Given the description of an element on the screen output the (x, y) to click on. 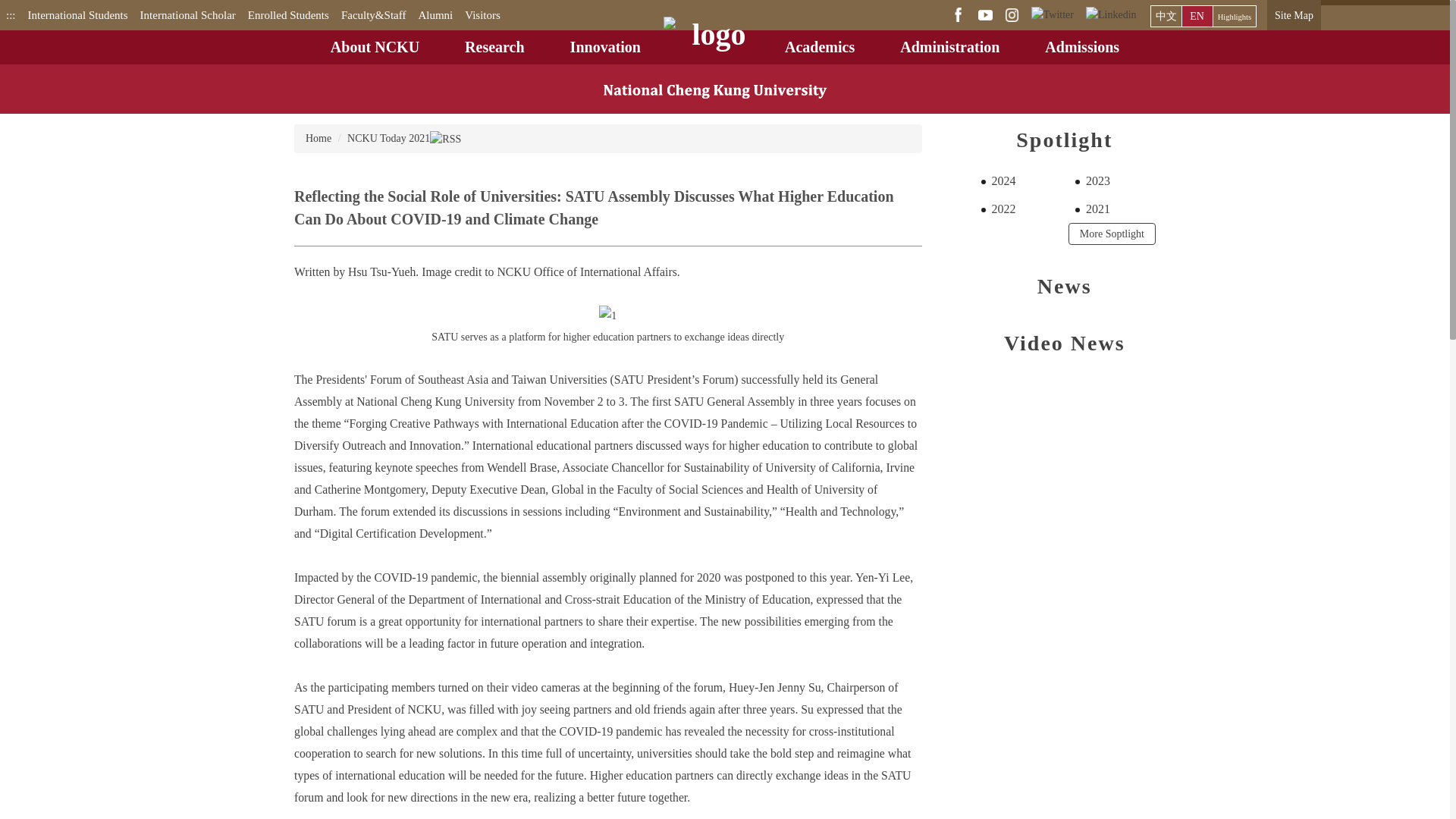
International Students (77, 14)
::: (10, 14)
Visitors (482, 14)
International Scholar (187, 14)
Innovation (605, 47)
RSS (445, 139)
Site Map (1293, 15)
Alumni (435, 14)
Home (318, 138)
Enrolled Students (287, 14)
